Given the description of an element on the screen output the (x, y) to click on. 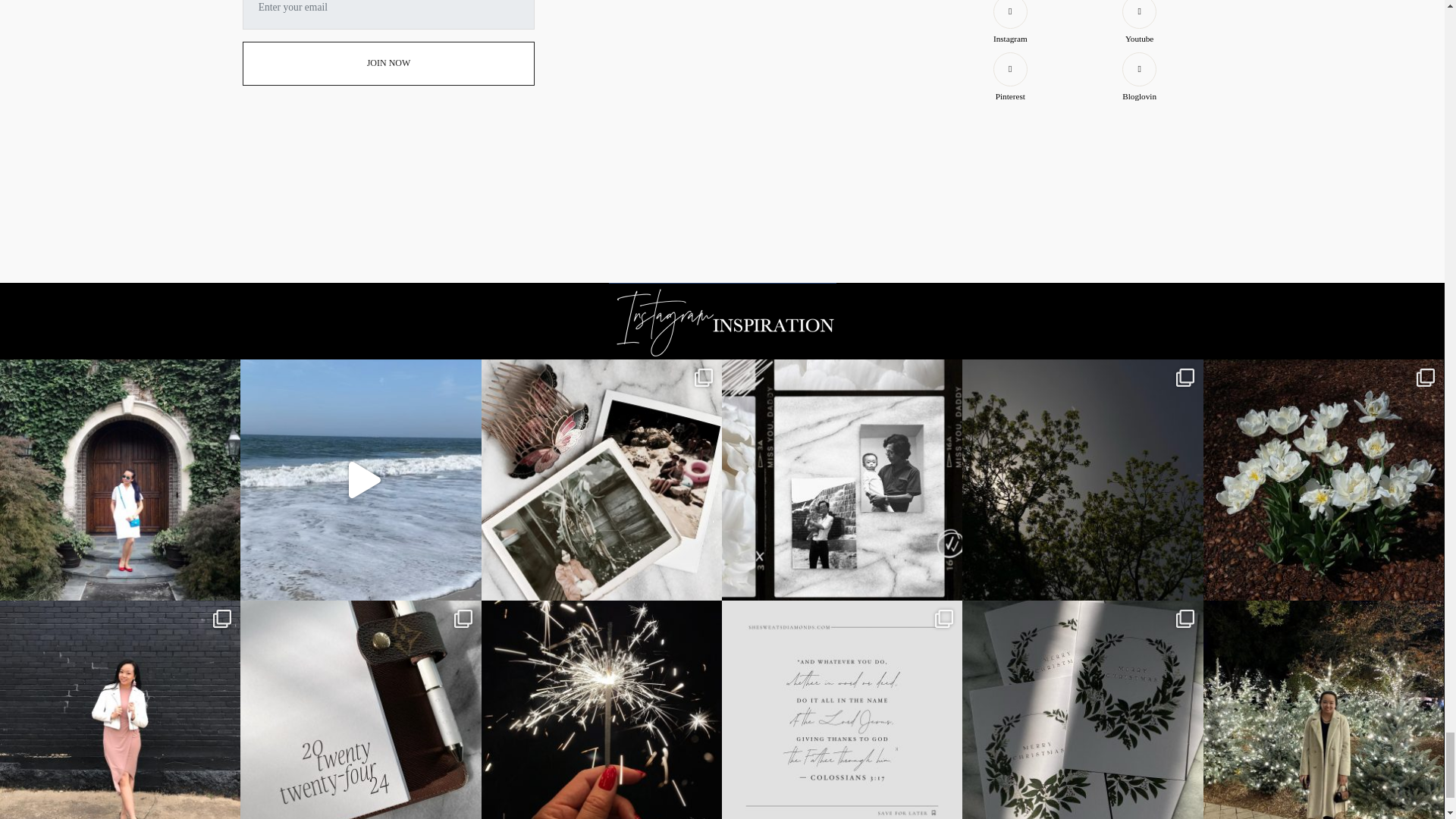
Join Now (389, 63)
